Given the description of an element on the screen output the (x, y) to click on. 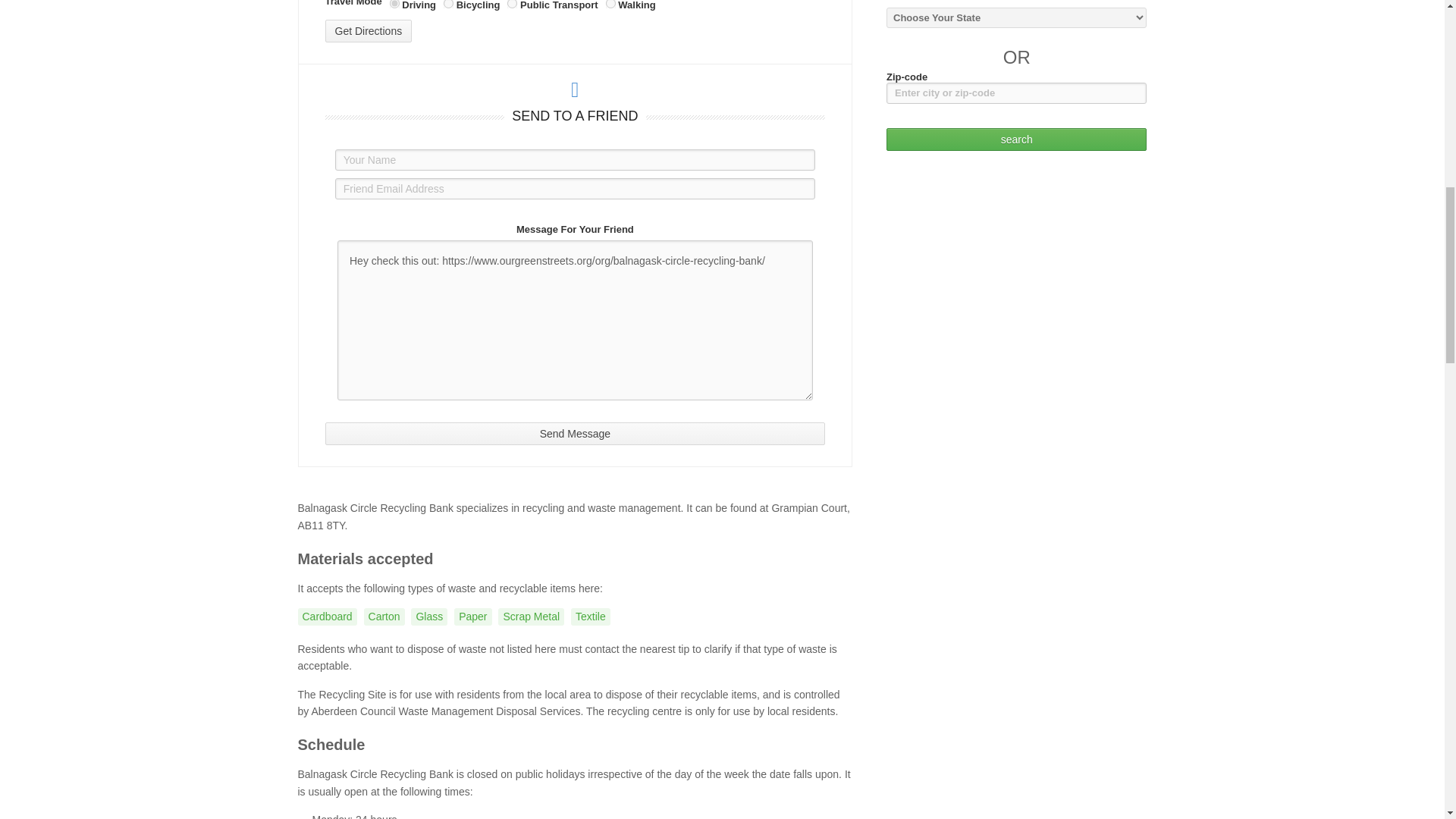
Send Message (574, 433)
Get Directions (368, 30)
WALKING (610, 4)
TRANSIT (511, 4)
DRIVING (394, 4)
BICYCLING (448, 4)
